Given the description of an element on the screen output the (x, y) to click on. 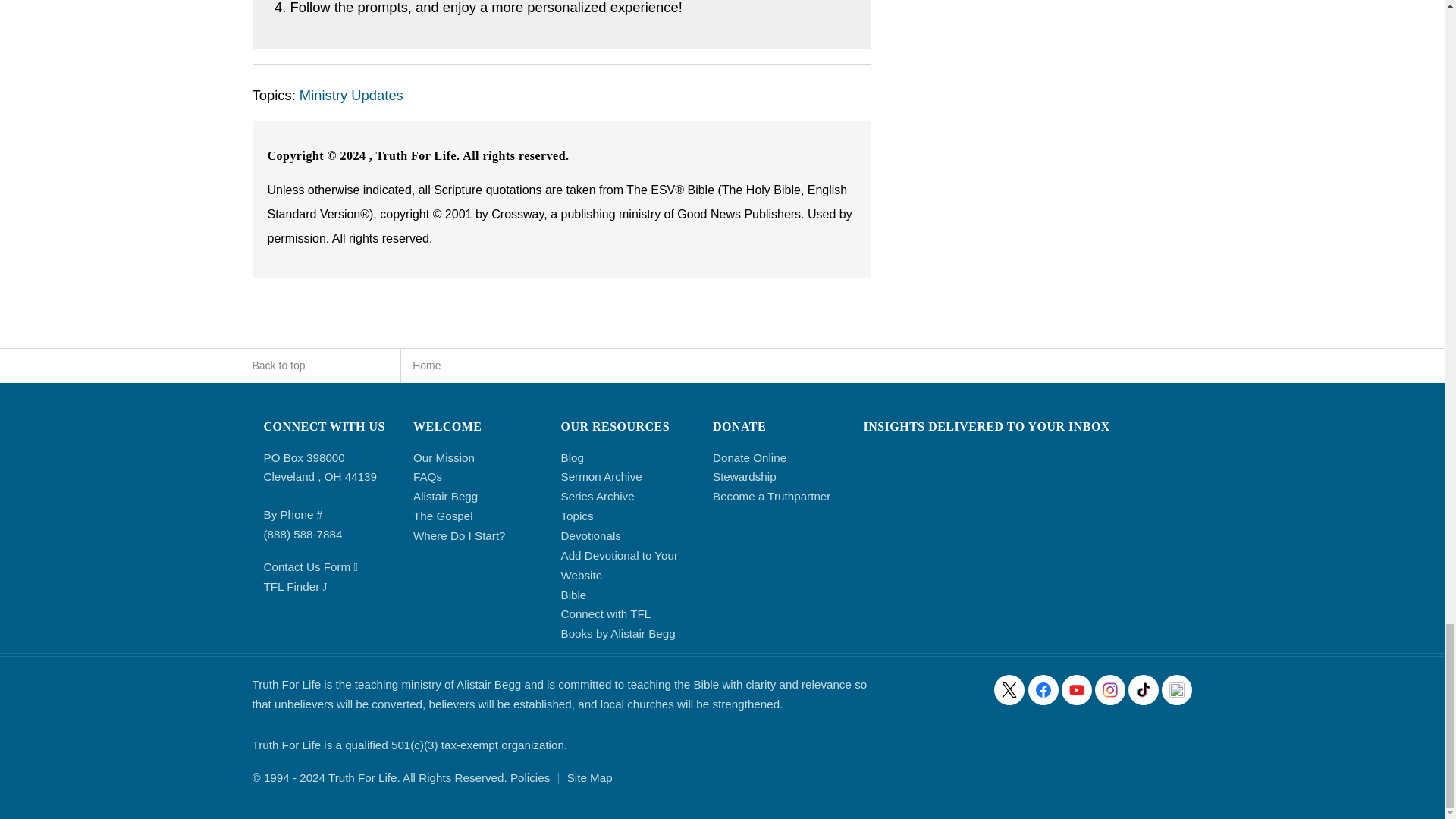
TikTok (1143, 689)
Facebook (1042, 689)
Instagram (1109, 689)
Twitter (1009, 689)
YouTube (1076, 689)
